Given the description of an element on the screen output the (x, y) to click on. 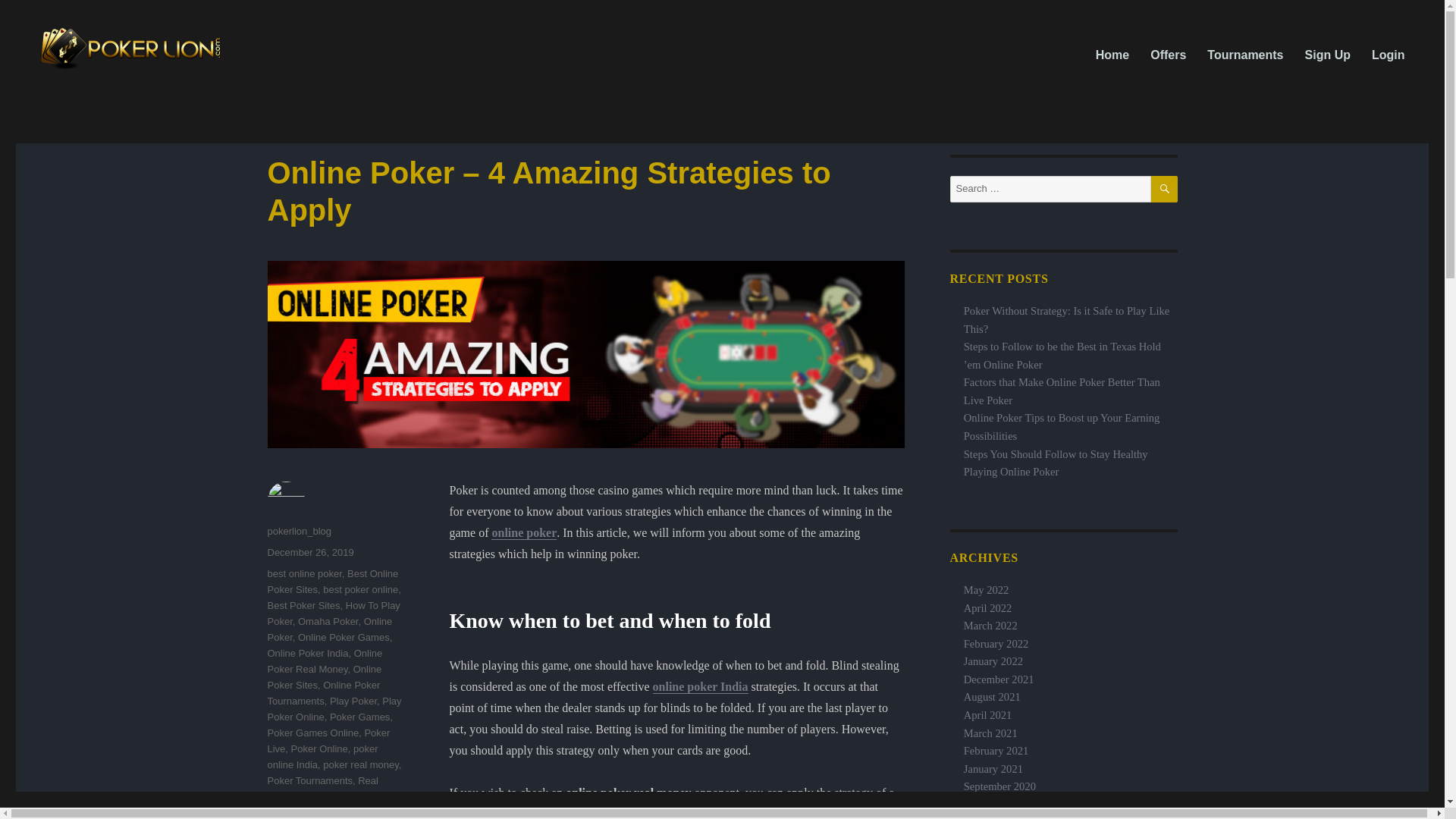
Online Poker Games (344, 636)
Offers (1168, 54)
Play Poker (353, 700)
Online Poker (328, 628)
Omaha Poker (328, 621)
Poker Games (360, 716)
online poker India (700, 686)
Online Poker India (306, 653)
best poker online (360, 589)
real poker India (364, 796)
